Given the description of an element on the screen output the (x, y) to click on. 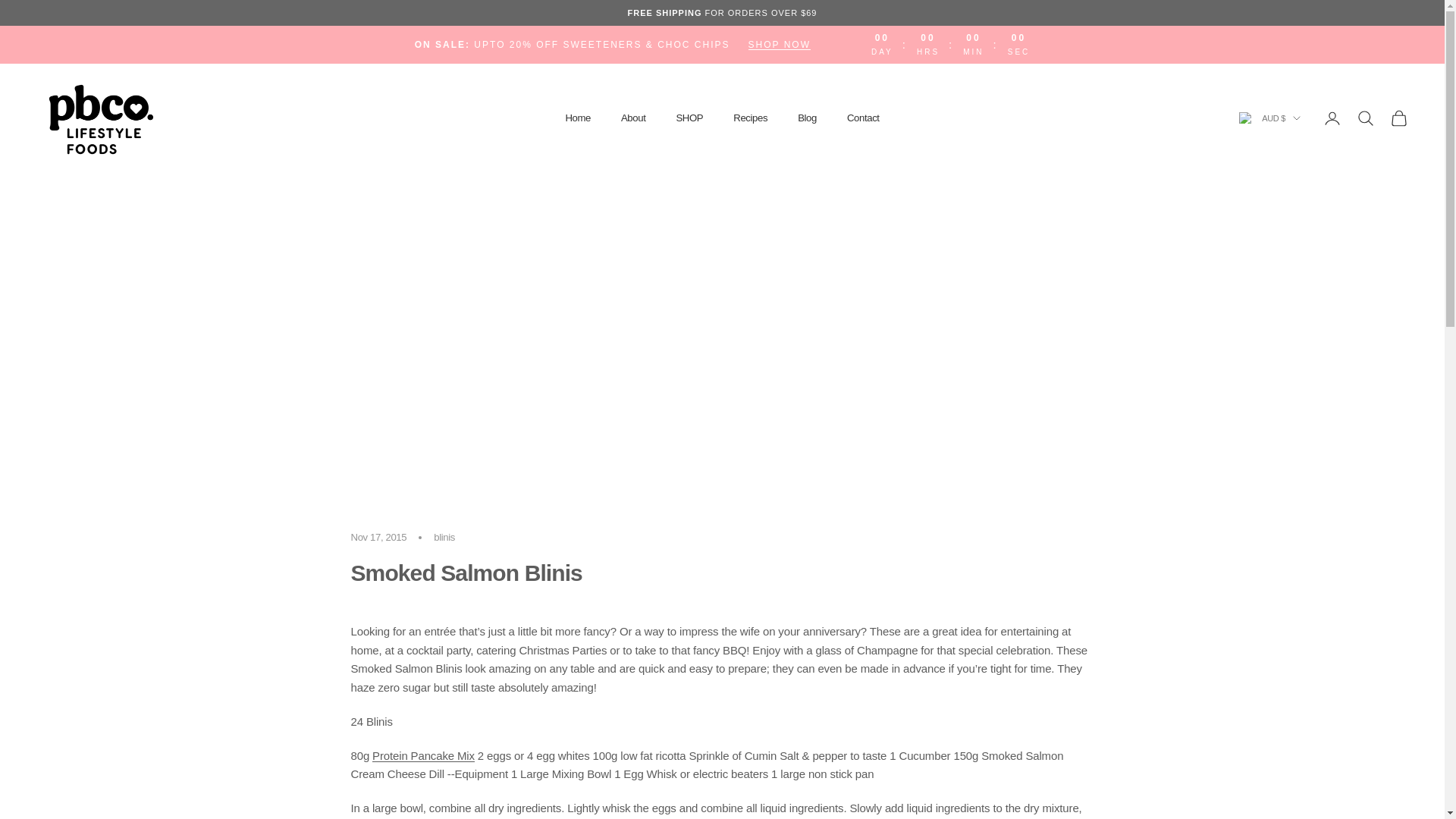
Blog (806, 117)
Contact (863, 117)
Home (577, 117)
SHOP NOW (778, 44)
Recipes (750, 117)
Open cart (1398, 117)
blinis (443, 537)
Open search (1365, 117)
Open account page (1331, 117)
PBCo. (98, 117)
